Given the description of an element on the screen output the (x, y) to click on. 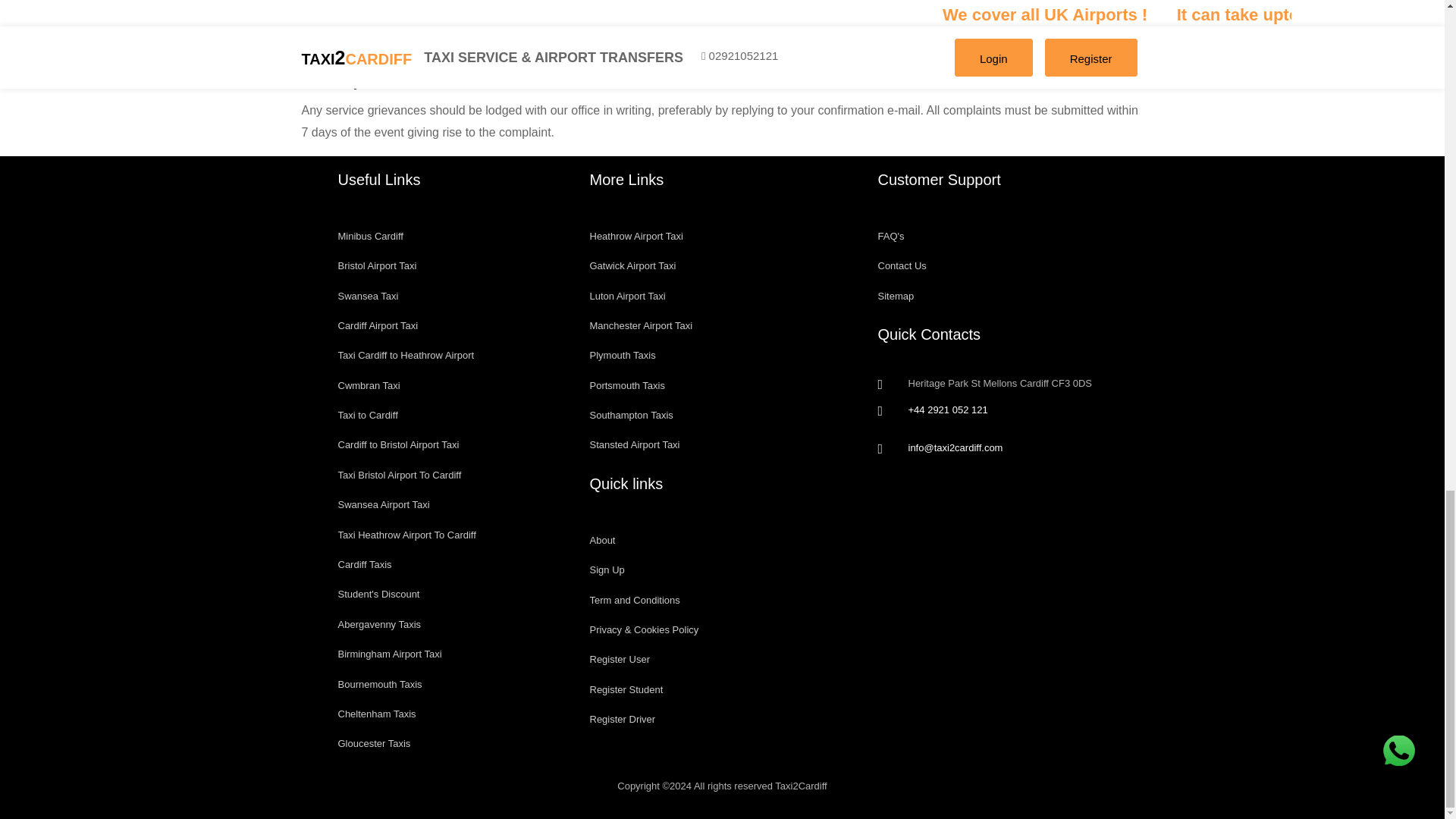
Sign Up (722, 569)
Cwmbran Taxi (452, 385)
Cardiff Taxis (452, 564)
Bournemouth Taxis (452, 684)
Birmingham Airport Taxi (452, 654)
Cheltenham Taxis (452, 713)
Luton Airport Taxi (722, 296)
Student's Discount (452, 594)
FAQ's (1009, 235)
Heathrow Airport Taxi (722, 235)
About (722, 540)
Register Student (722, 689)
Taxi Heathrow Airport To Cardiff (452, 534)
Swansea Taxi (452, 296)
Bristol Airport Taxi (452, 265)
